Given the description of an element on the screen output the (x, y) to click on. 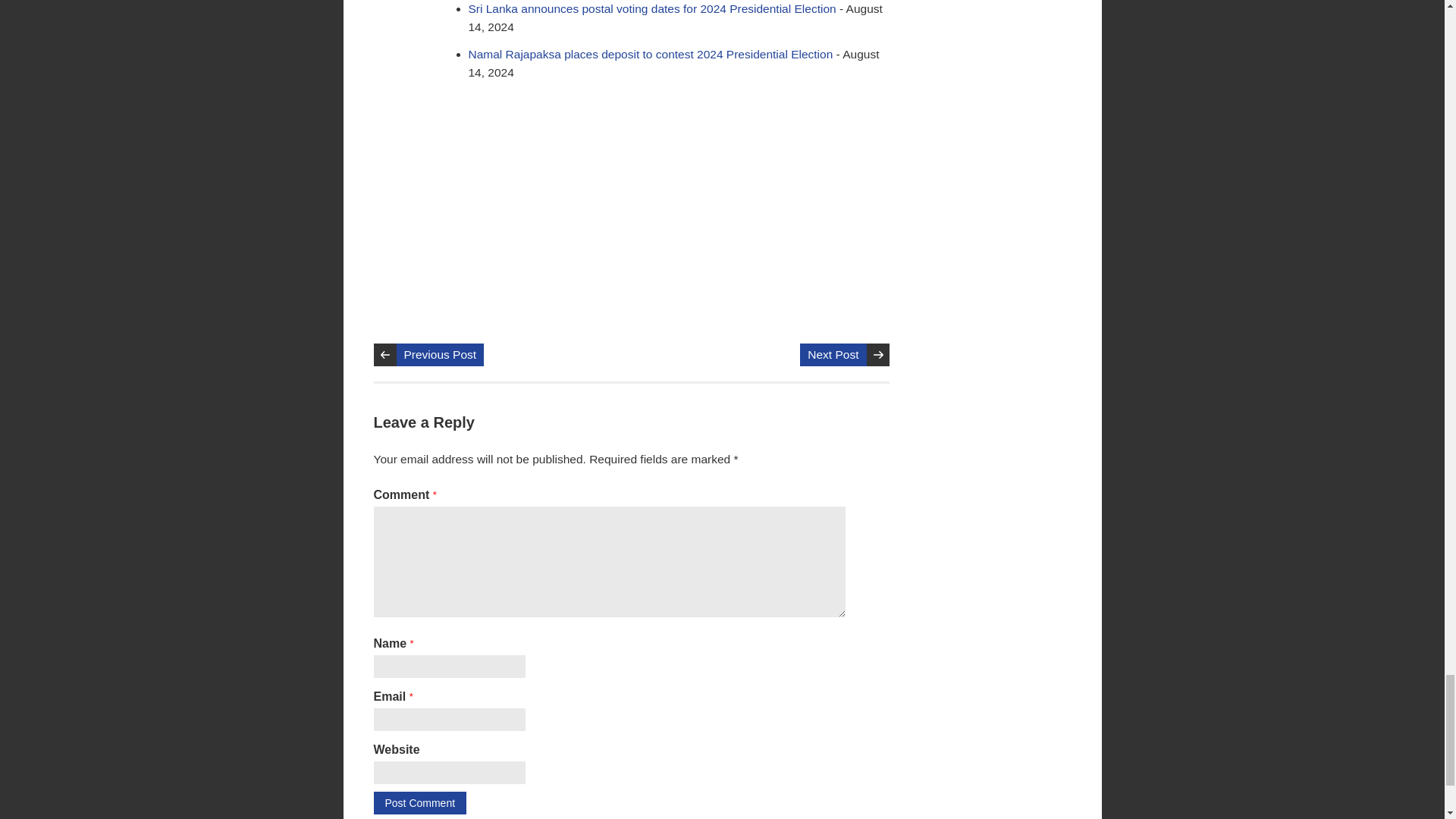
Post Comment (418, 802)
Previous Post (439, 354)
Next Post (832, 354)
Post Comment (418, 802)
